Given the description of an element on the screen output the (x, y) to click on. 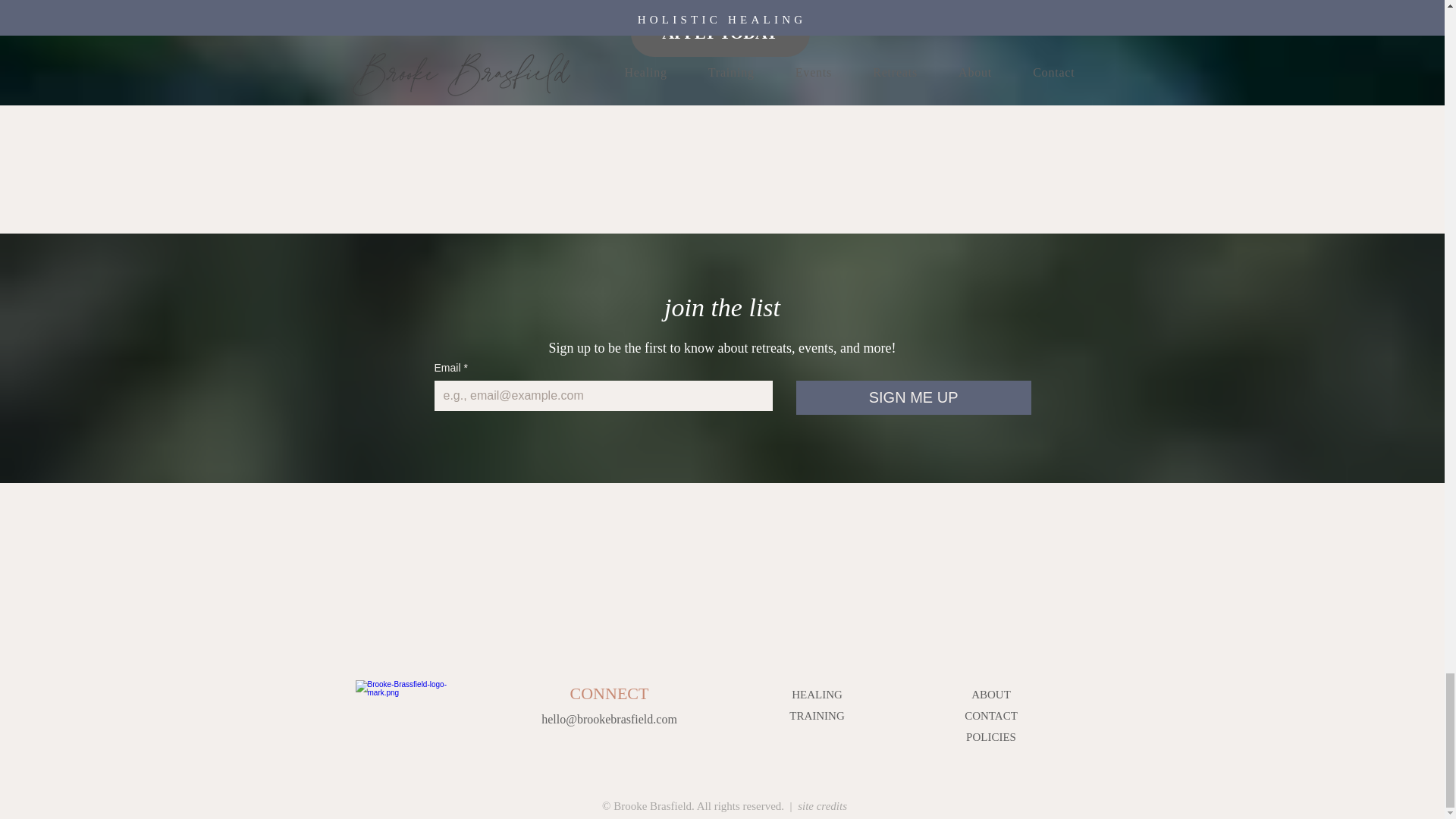
APPLY TODAY (719, 33)
SIGN ME UP (913, 397)
